Given the description of an element on the screen output the (x, y) to click on. 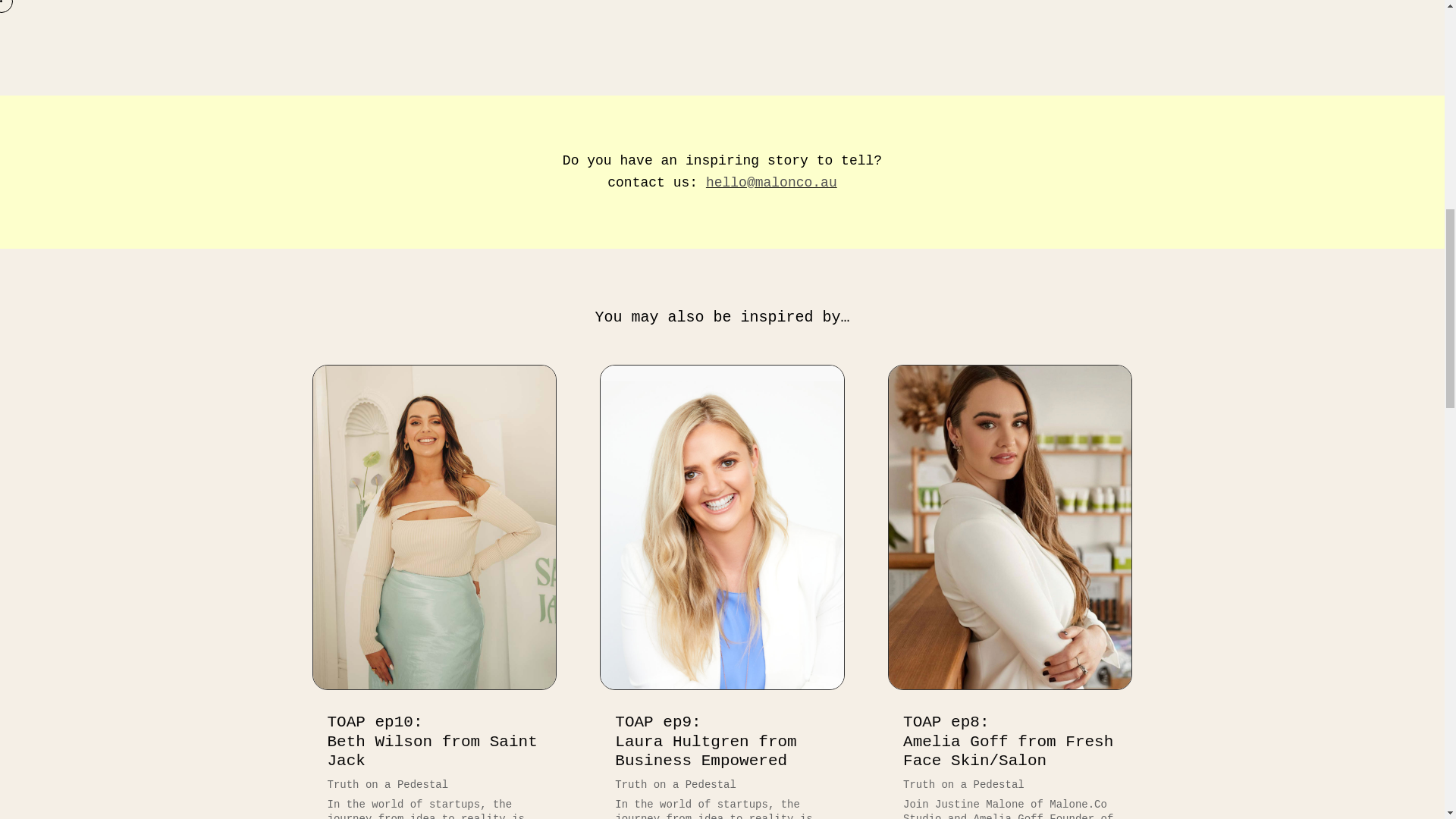
Truth on a Pedestal (705, 741)
Truth on a Pedestal (387, 784)
